Given the description of an element on the screen output the (x, y) to click on. 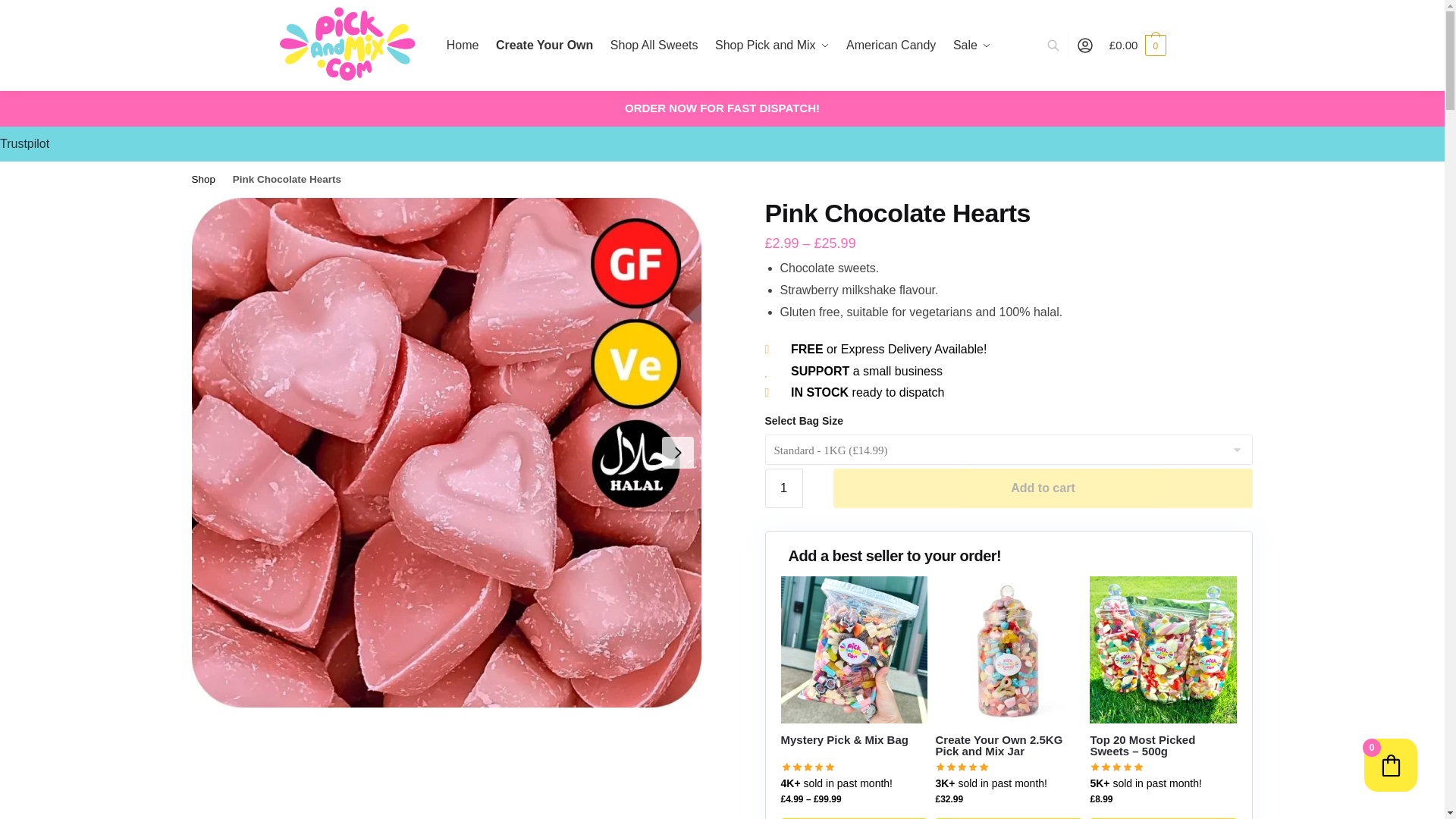
Shop Pick and Mix (771, 45)
Shop All Sweets (654, 45)
1 (783, 487)
View your shopping cart (1137, 44)
Create Your Own (544, 45)
Create Your Own 2.5KG Pick and Mix Jar (1007, 649)
